Given the description of an element on the screen output the (x, y) to click on. 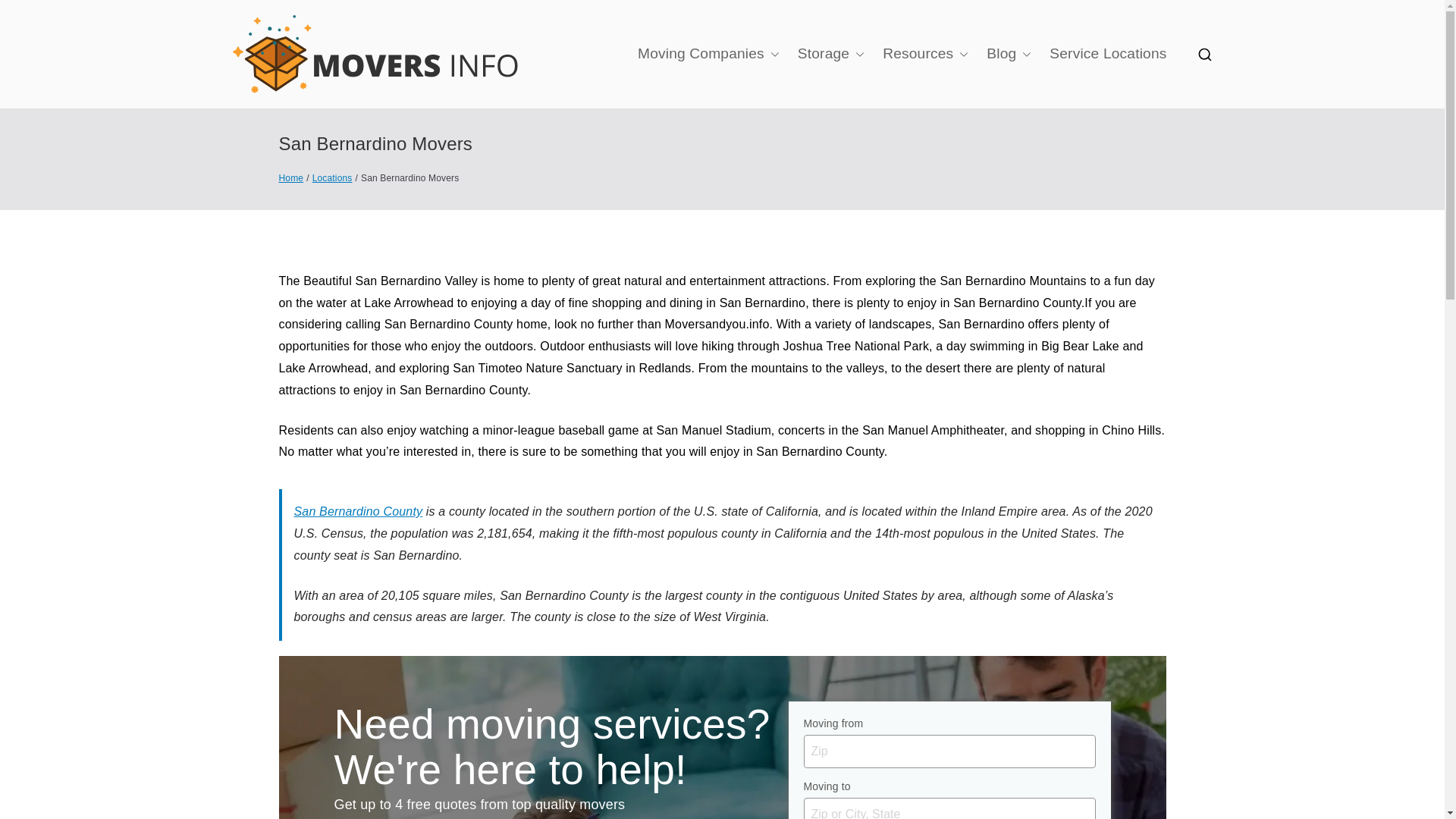
Resources (925, 53)
Movers Near Me (651, 73)
Blog (1008, 53)
Moving Companies (707, 53)
Service Locations (1107, 53)
Storage (830, 53)
